Given the description of an element on the screen output the (x, y) to click on. 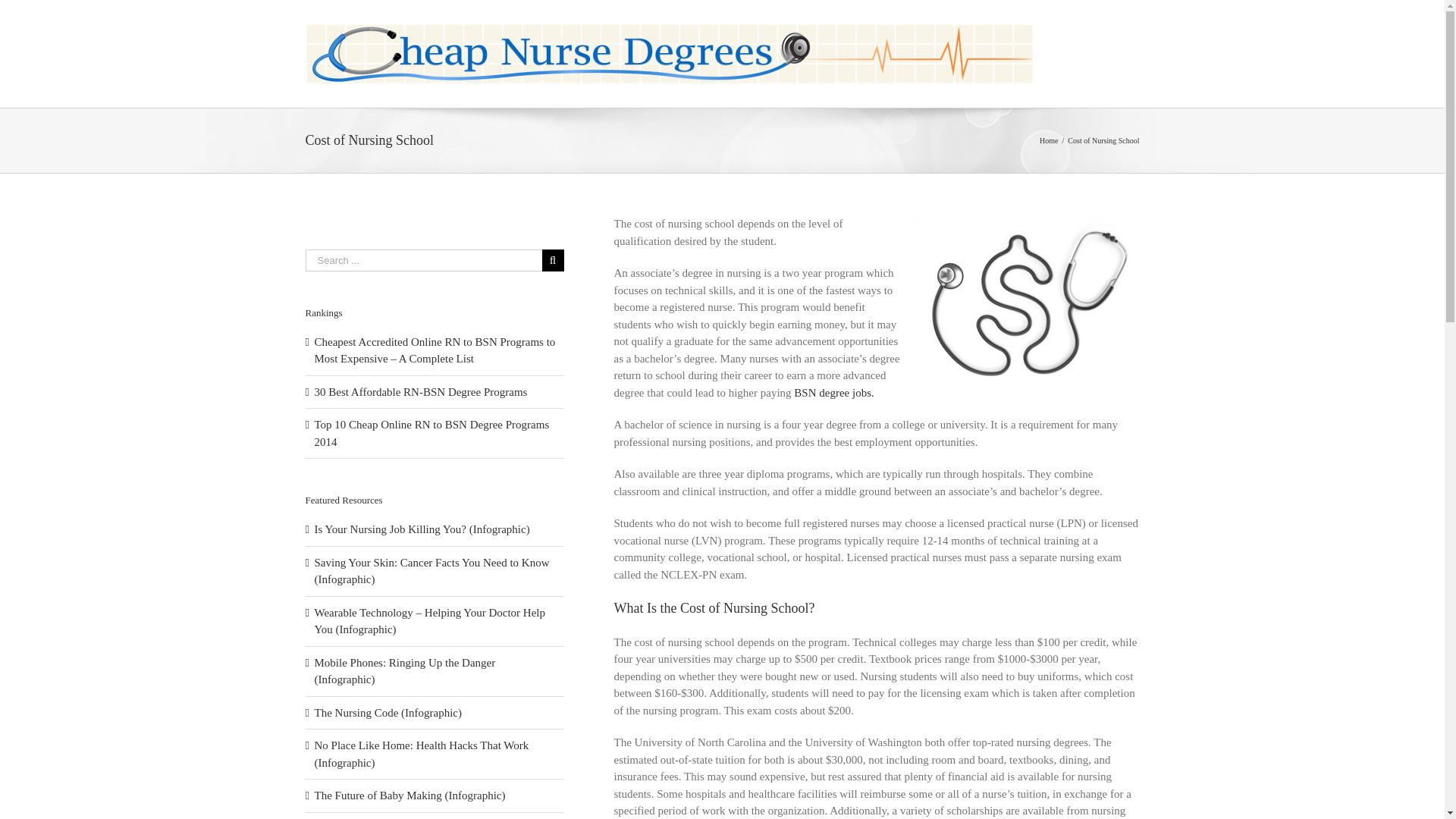
Home (1048, 140)
30 Best Affordable RN-BSN Degree Programs (420, 391)
Top 10 Cheap Online RN to BSN Degree Programs 2014 (431, 432)
BSN degree jobs. (833, 392)
